Given the description of an element on the screen output the (x, y) to click on. 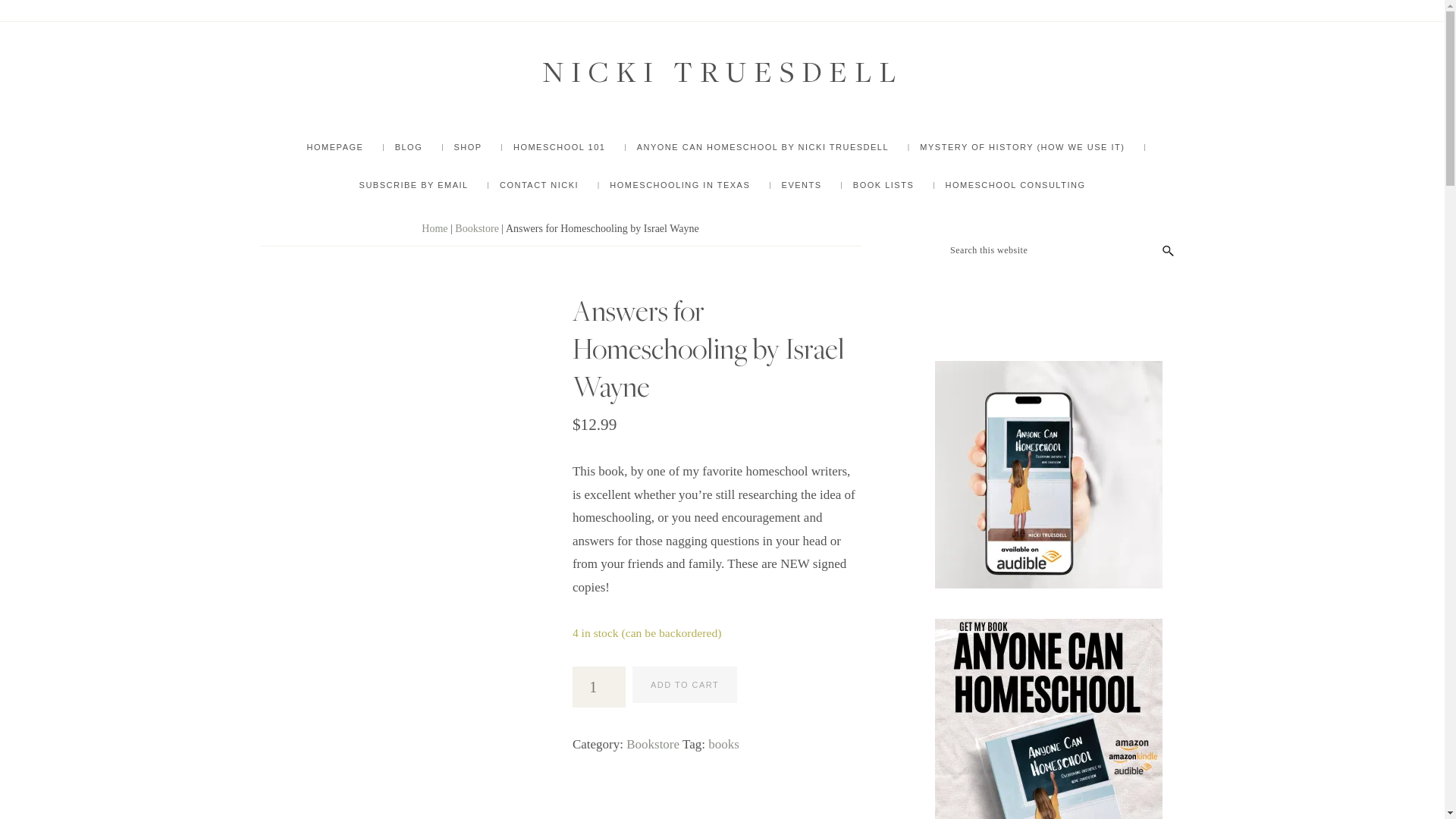
Bookstore (476, 228)
HOMEPAGE (335, 146)
BLOG (408, 146)
EVENTS (801, 184)
Home (434, 228)
ADD TO CART (683, 684)
Bookstore (652, 744)
1 (599, 686)
books (723, 744)
HOMESCHOOLING IN TEXAS (679, 184)
HOMESCHOOL CONSULTING (1015, 184)
ANYONE CAN HOMESCHOOL BY NICKI TRUESDELL (762, 146)
